Given the description of an element on the screen output the (x, y) to click on. 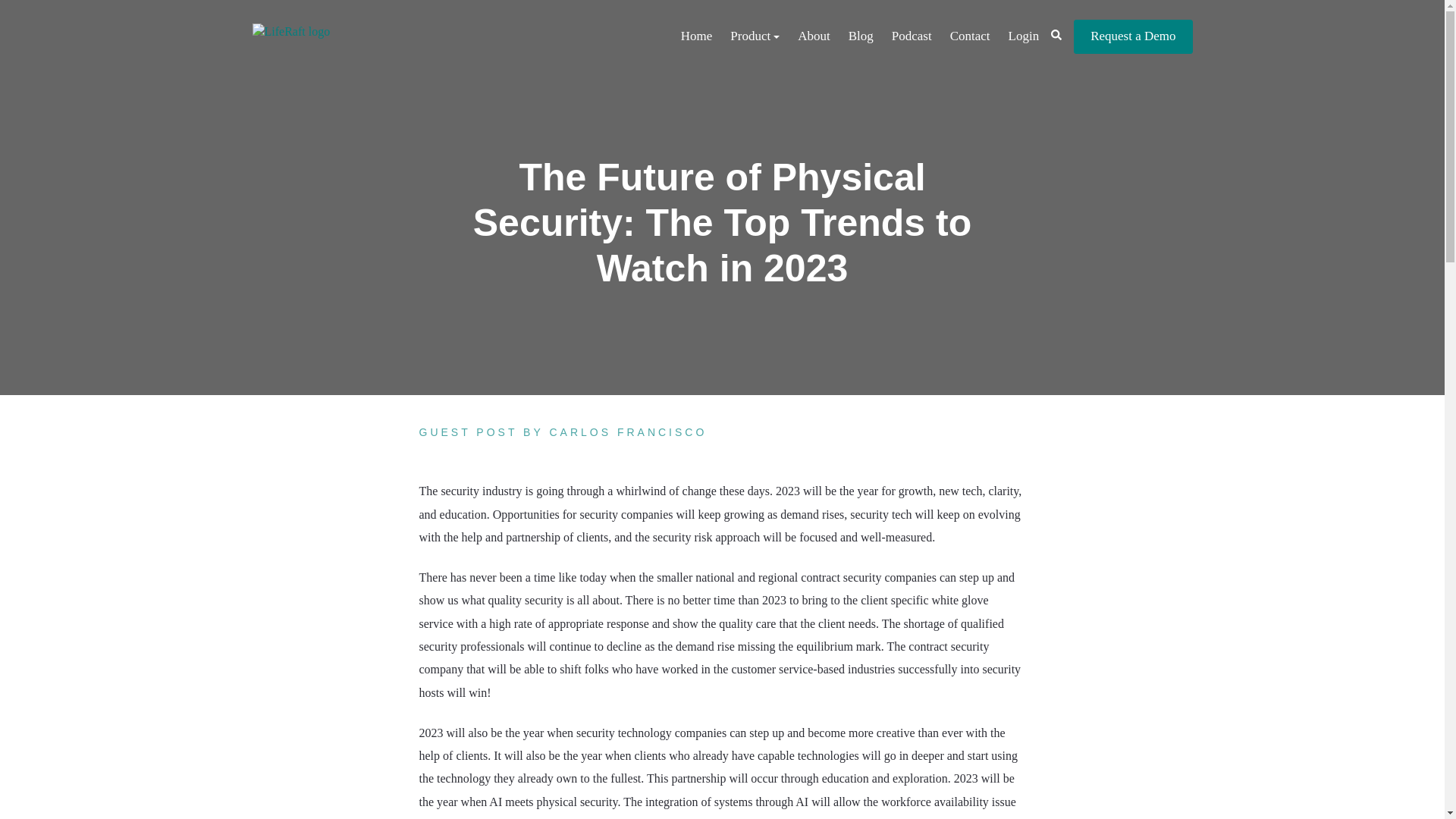
Contact (969, 36)
Blog (861, 36)
Podcast (911, 36)
Request a Demo (1133, 36)
Search (1056, 34)
About (814, 36)
Login (1023, 36)
Product (754, 36)
Home (696, 36)
